Given the description of an element on the screen output the (x, y) to click on. 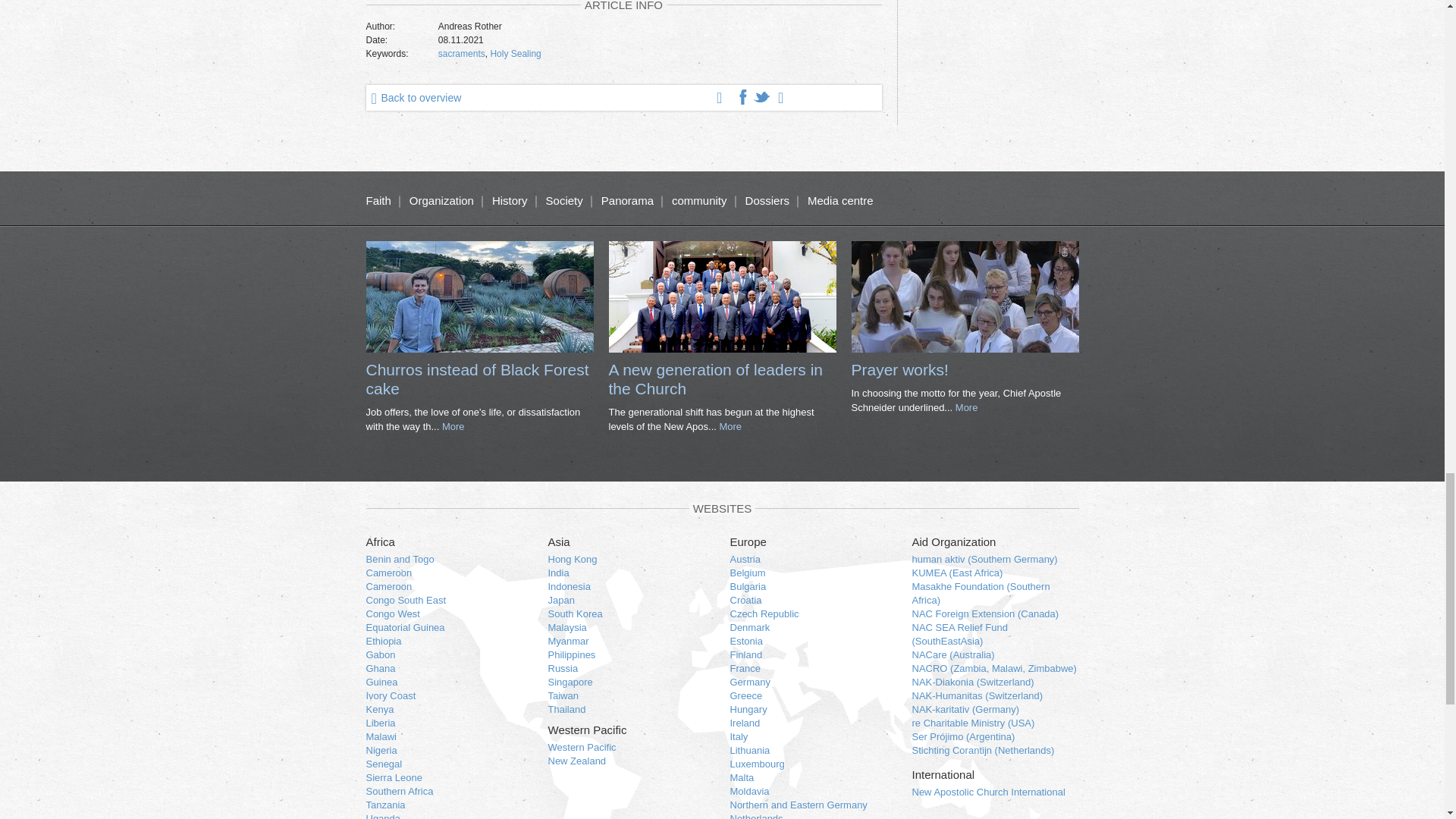
Back to overview (413, 97)
sacraments (461, 53)
Holy Sealing (514, 53)
